Given the description of an element on the screen output the (x, y) to click on. 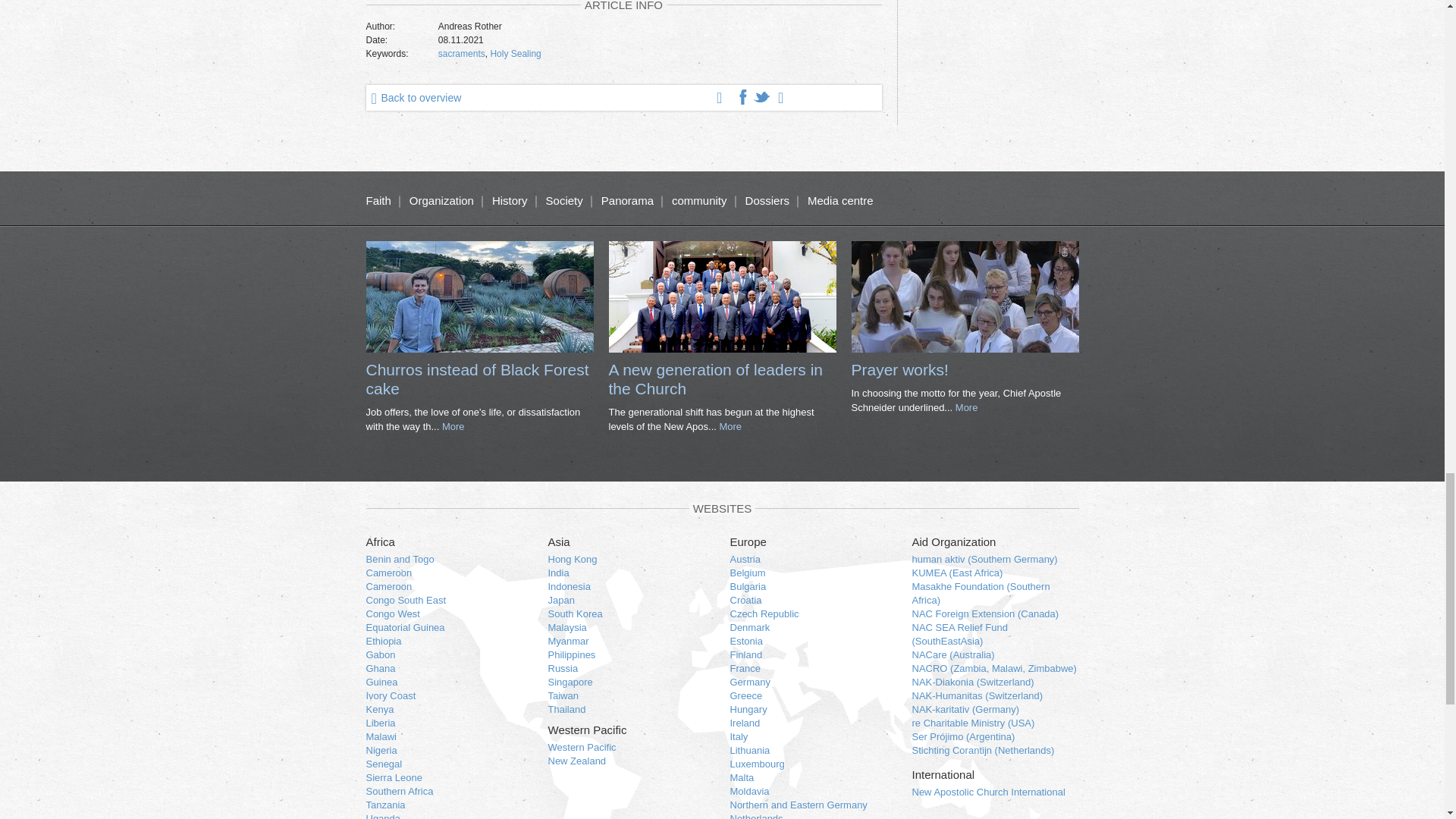
Back to overview (413, 97)
sacraments (461, 53)
Holy Sealing (514, 53)
